Given the description of an element on the screen output the (x, y) to click on. 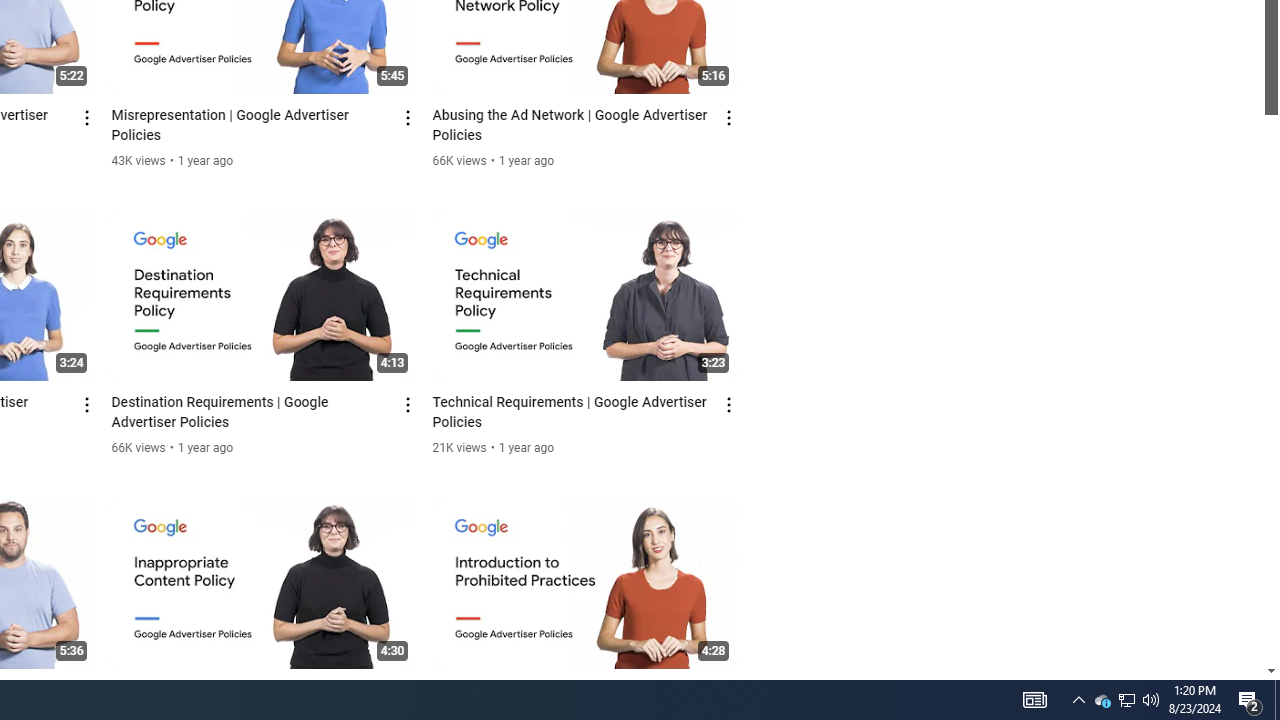
Action menu (729, 691)
